Given the description of an element on the screen output the (x, y) to click on. 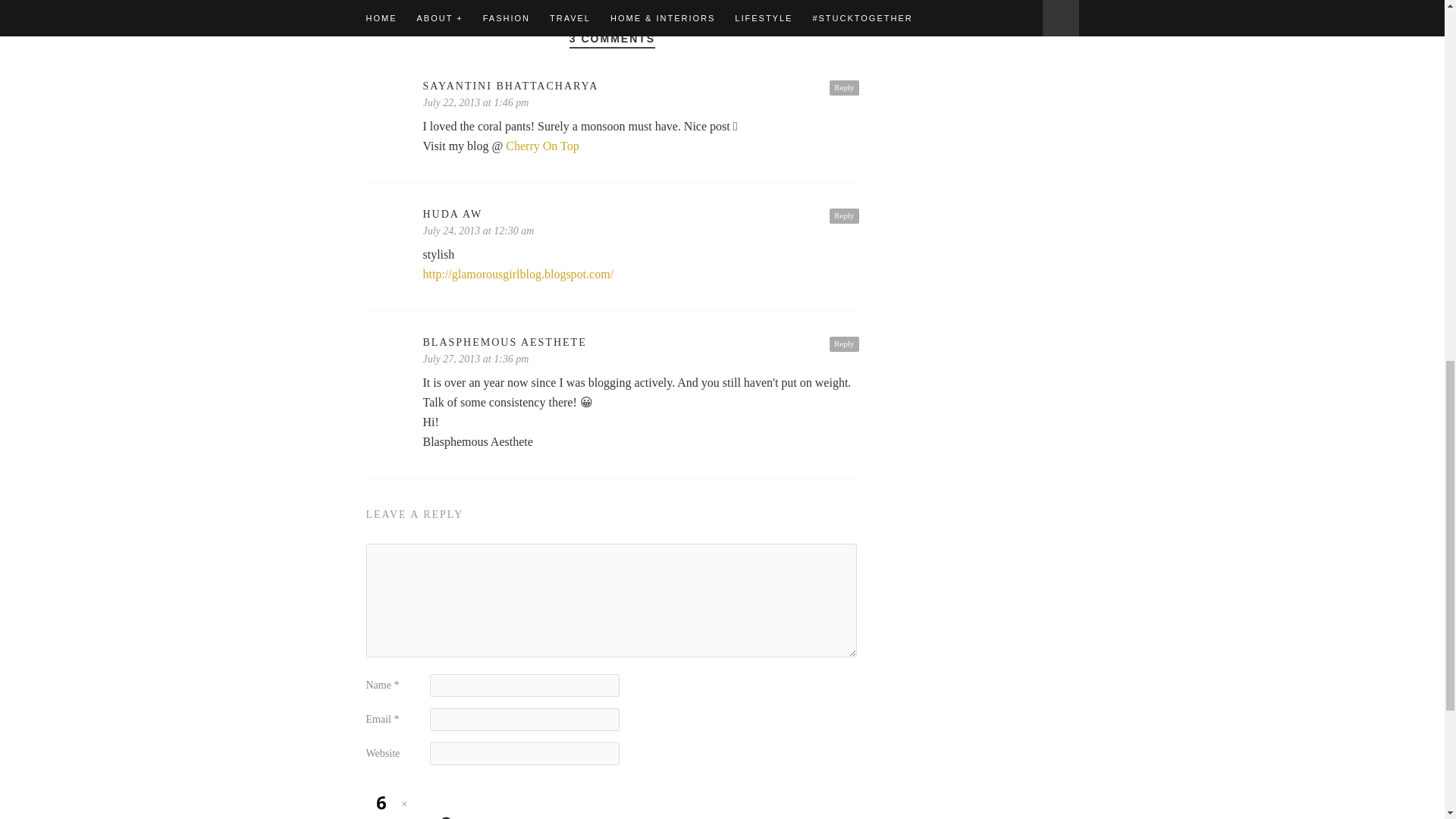
Reply (844, 215)
SAYANTINI BHATTACHARYA (641, 86)
Reply (844, 344)
HUDA AW (641, 214)
Cherry On Top (541, 145)
Reply (844, 87)
BLASPHEMOUS AESTHETE (641, 342)
